Given the description of an element on the screen output the (x, y) to click on. 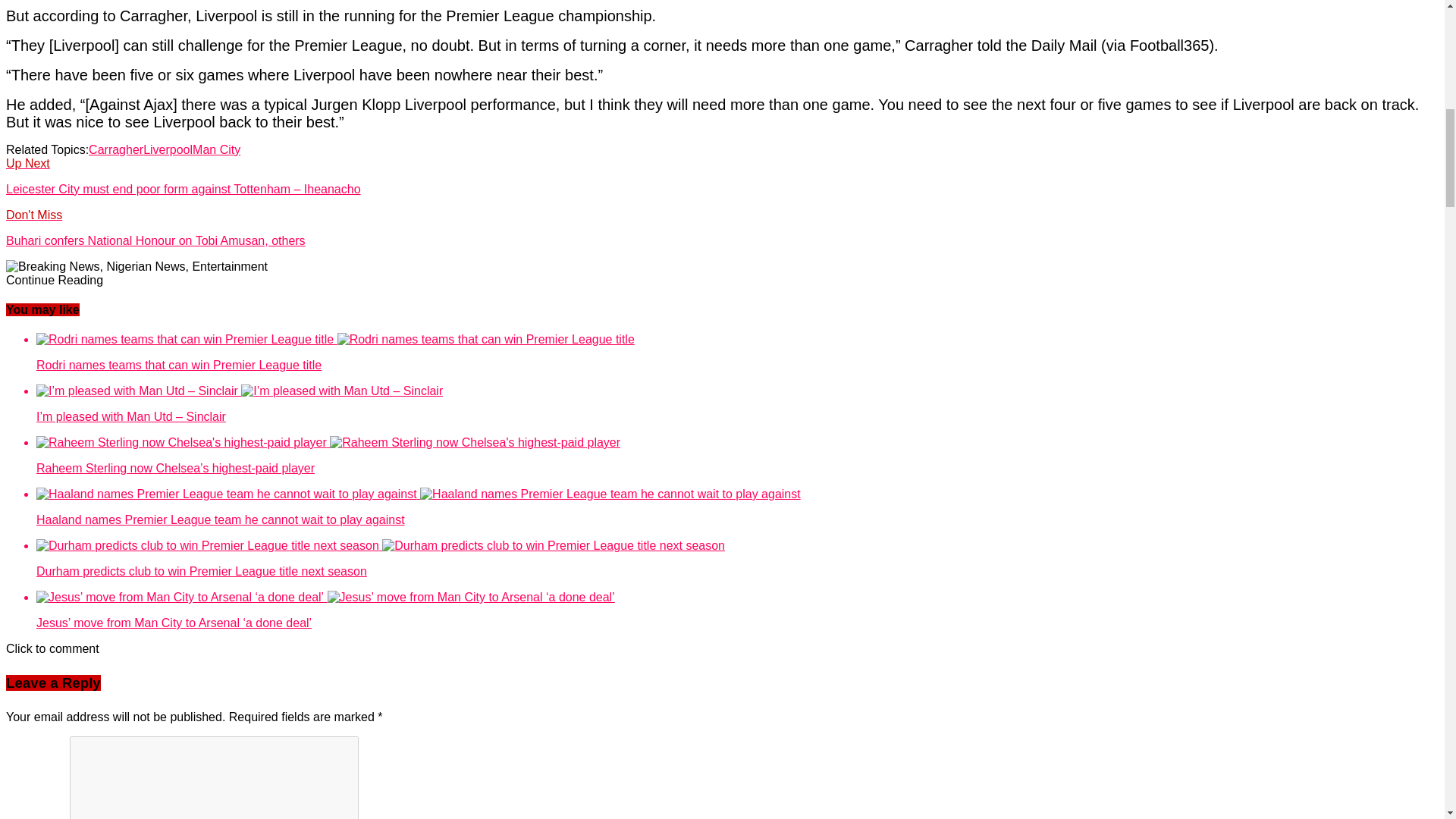
Liverpool (167, 148)
Carragher (115, 148)
Man City (216, 148)
